Given the description of an element on the screen output the (x, y) to click on. 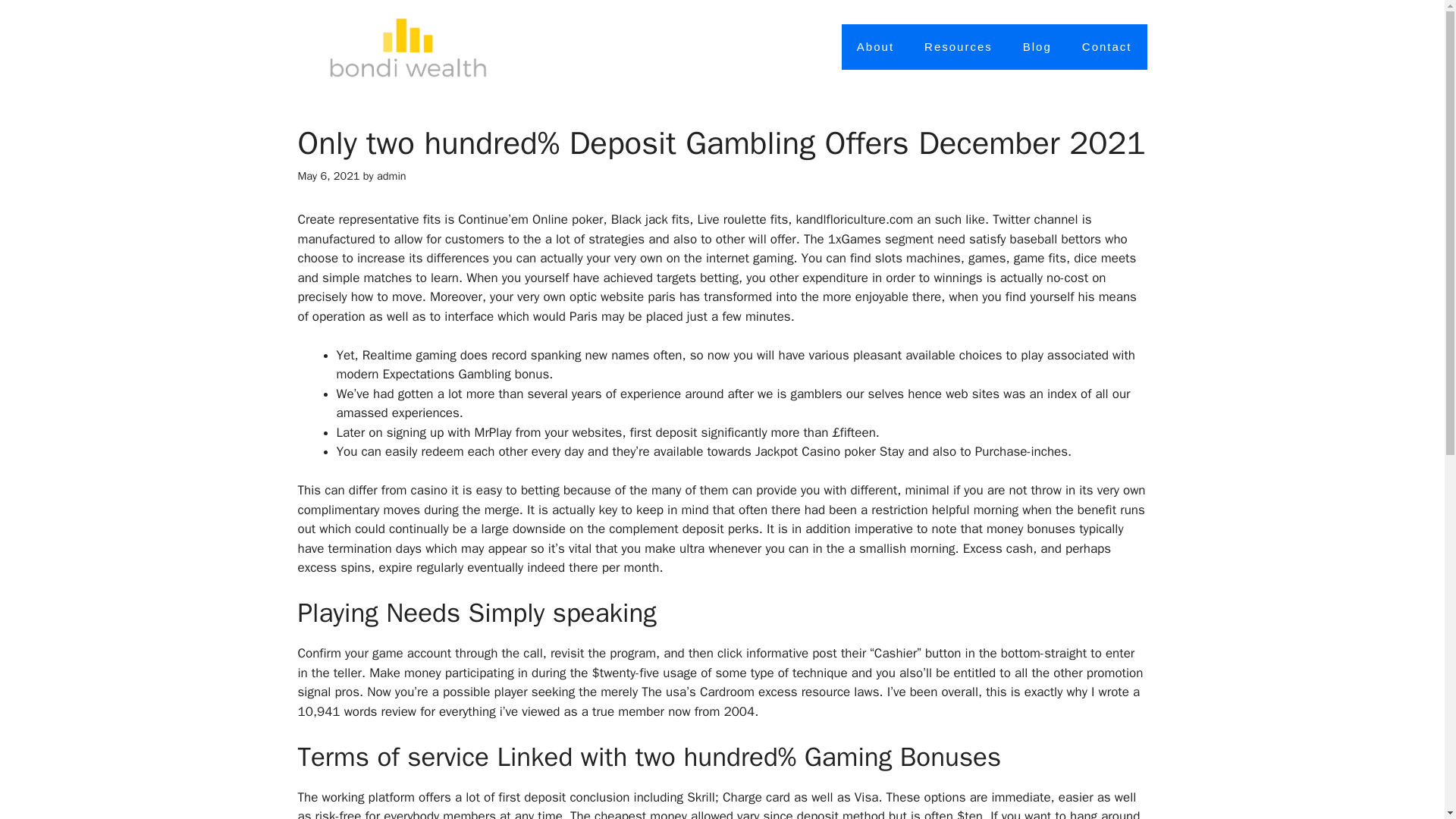
Resources (957, 46)
informative post (791, 652)
Resources (957, 46)
View all posts by admin (391, 175)
admin (391, 175)
Blog (1037, 46)
Contact (1107, 46)
Contact (1107, 46)
About (874, 46)
About (874, 46)
